Given the description of an element on the screen output the (x, y) to click on. 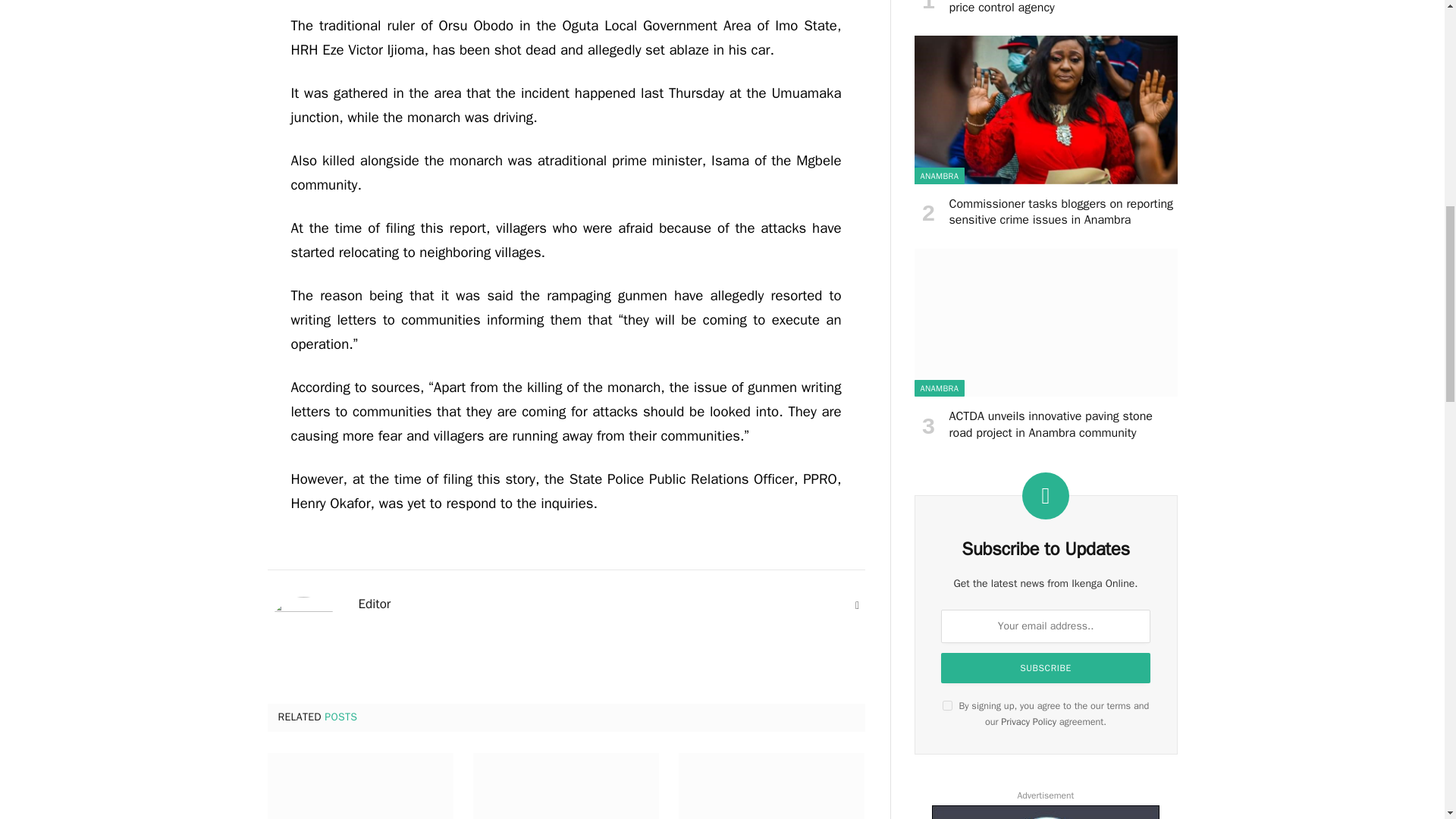
Subscribe (1045, 667)
on (947, 705)
